Given the description of an element on the screen output the (x, y) to click on. 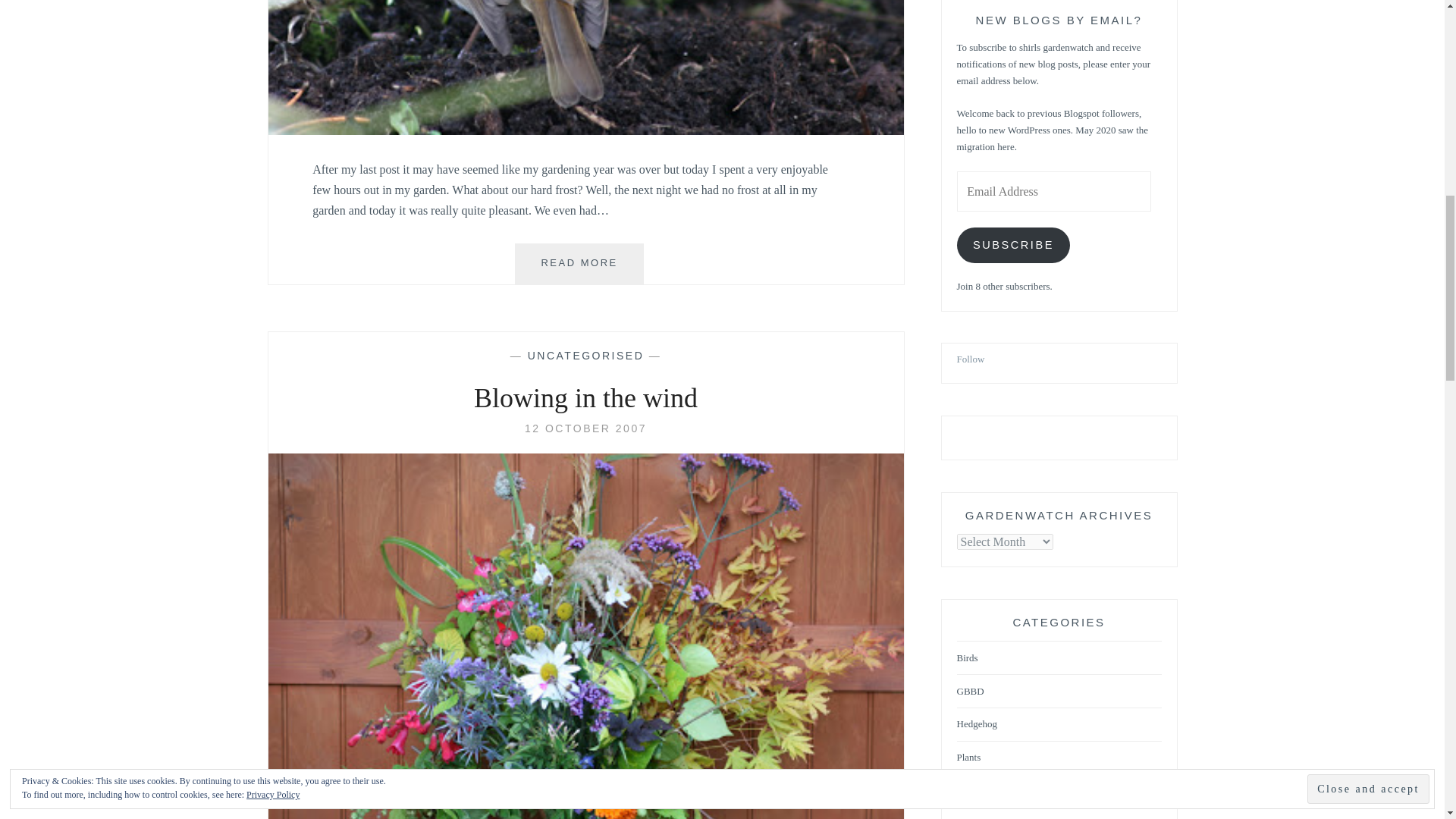
Birds (967, 658)
UNCATEGORISED (586, 355)
Follow Button (1058, 431)
Pollinators (977, 790)
SUBSCRIBE (1013, 244)
Blowing in the wind (585, 399)
12 OCTOBER 2007 (579, 263)
Plants (585, 428)
GBBD (968, 757)
Follow (970, 691)
Blowing in the wind (970, 359)
A good gardening day! (585, 428)
Hedgehog (585, 130)
